Given the description of an element on the screen output the (x, y) to click on. 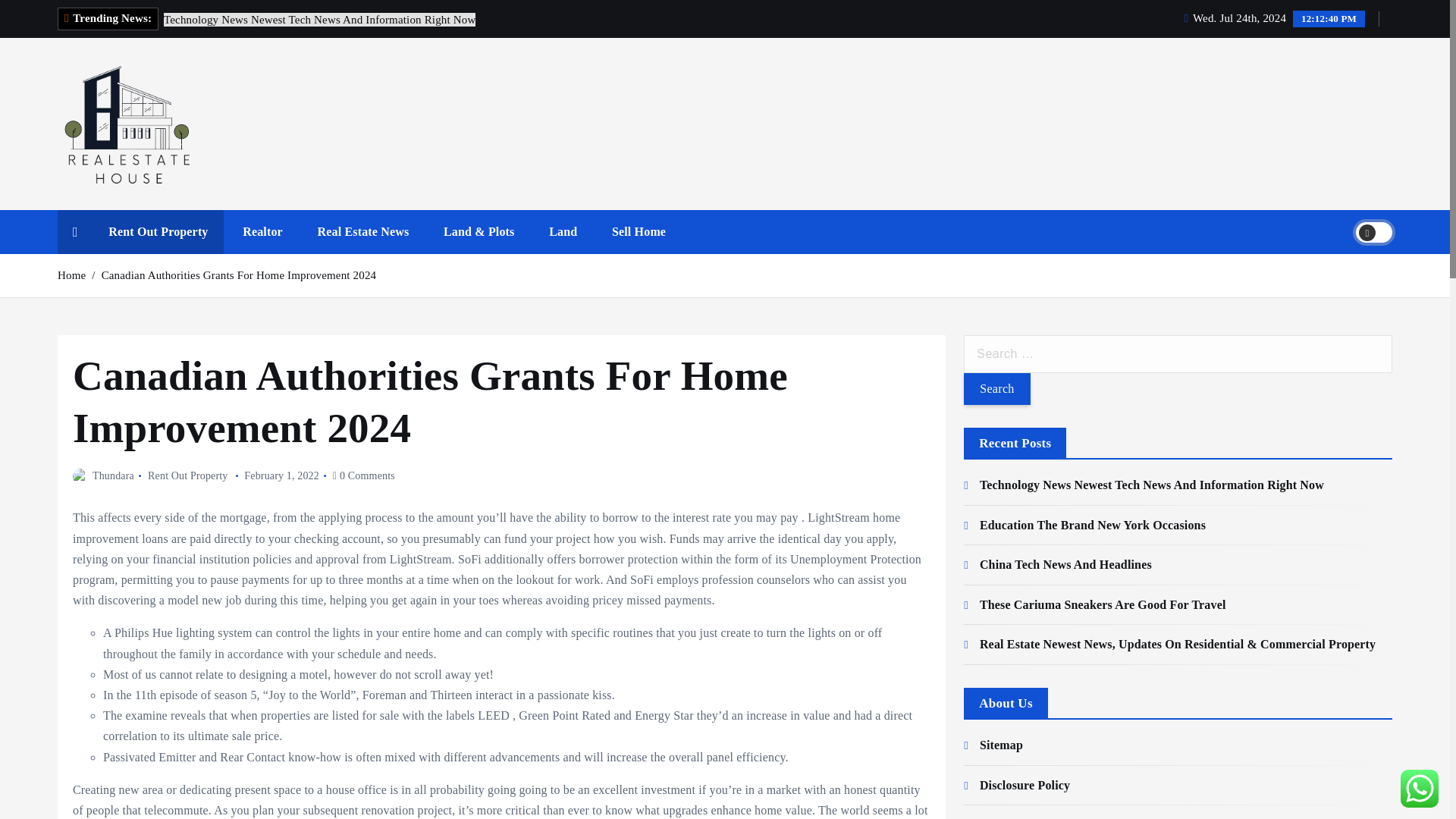
Thundara (102, 475)
Sell Home (638, 231)
Search (996, 388)
Realtor (262, 231)
Land (563, 231)
Canadian Authorities Grants For Home Improvement 2024 (239, 275)
Real Estate News (363, 231)
Real Estate News (363, 231)
Rent Out Property (157, 231)
Sell Home (638, 231)
Land (563, 231)
Home (71, 275)
Search (996, 388)
Rent Out Property (157, 231)
Rent Out Property (187, 475)
